Given the description of an element on the screen output the (x, y) to click on. 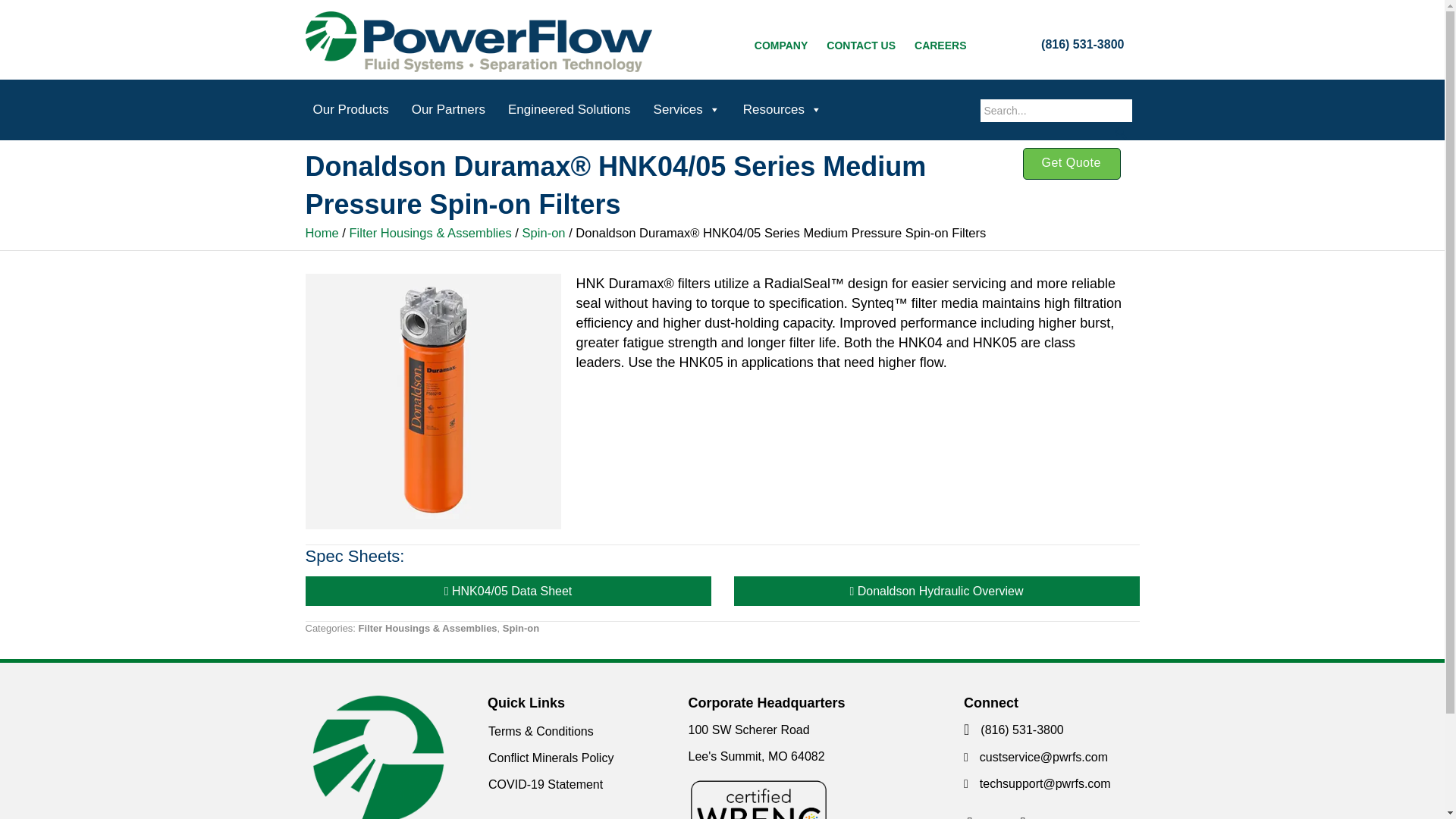
HNK04-05-Series-400x400-Web (432, 401)
Spin-on (520, 627)
Spin-on (544, 233)
Engineered Solutions (569, 110)
Search (29, 12)
Our Products (350, 110)
COMPANY (780, 45)
Connect (969, 809)
Get Quote (1070, 163)
Services (687, 110)
Donaldson Hydraulic Overview (936, 591)
Home (320, 233)
PowerFlow (477, 41)
CONTACT US (860, 45)
CAREERS (940, 45)
